Given the description of an element on the screen output the (x, y) to click on. 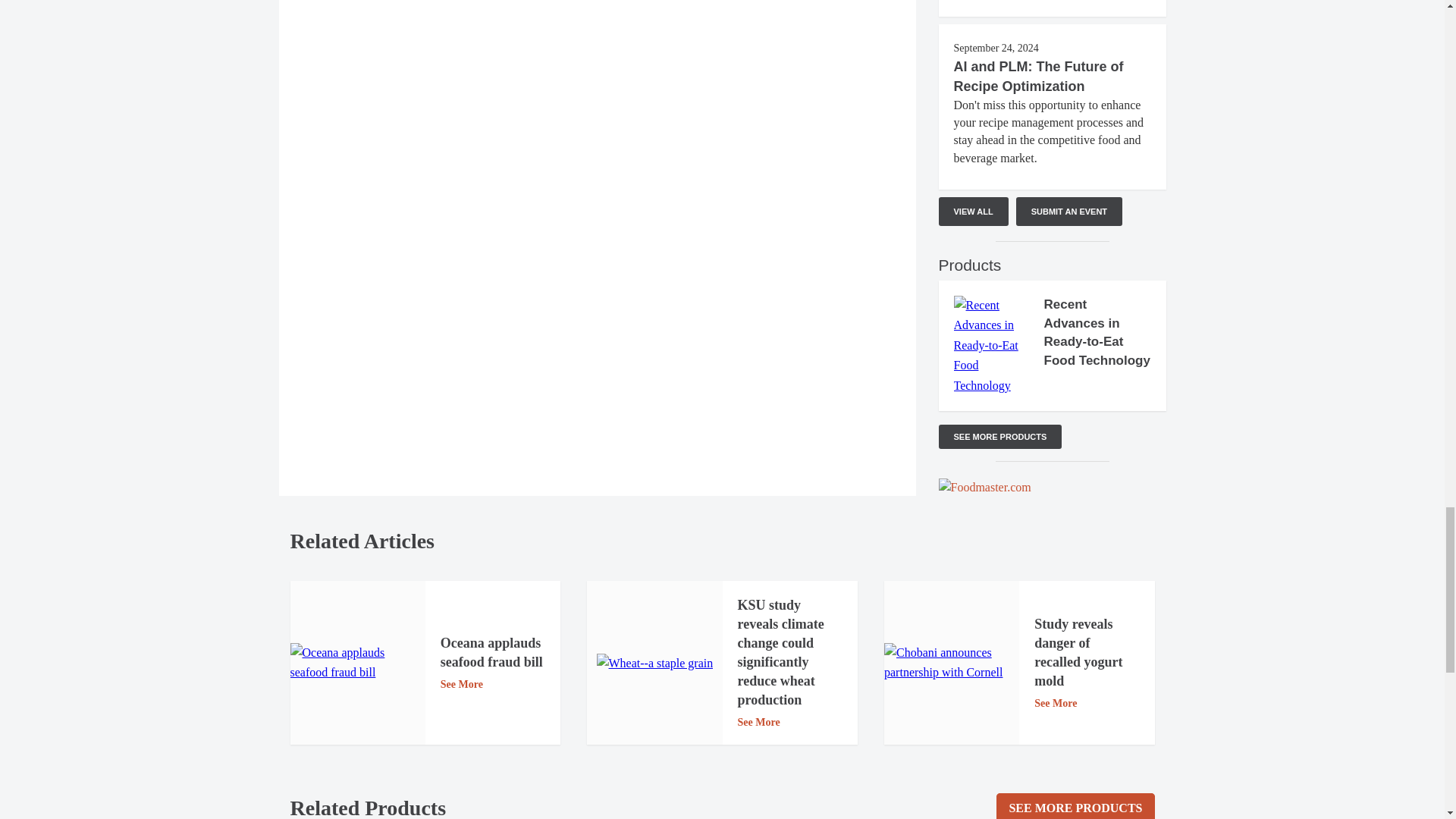
Wheat--a staple grain (654, 663)
fish (357, 662)
AI and PLM: The Future of Recipe Optimization (1038, 76)
